Given the description of an element on the screen output the (x, y) to click on. 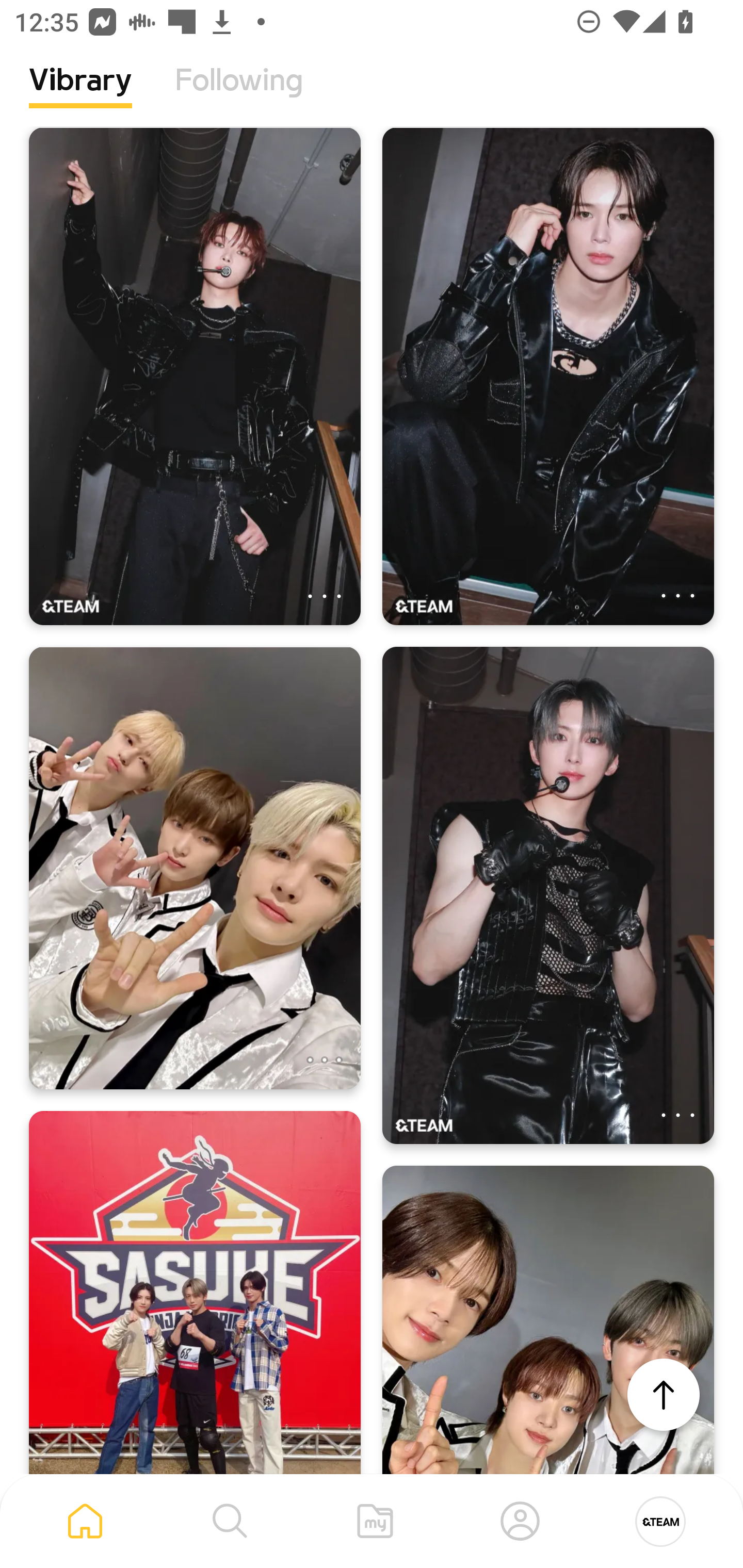
Vibrary (80, 95)
Following (239, 95)
